Given the description of an element on the screen output the (x, y) to click on. 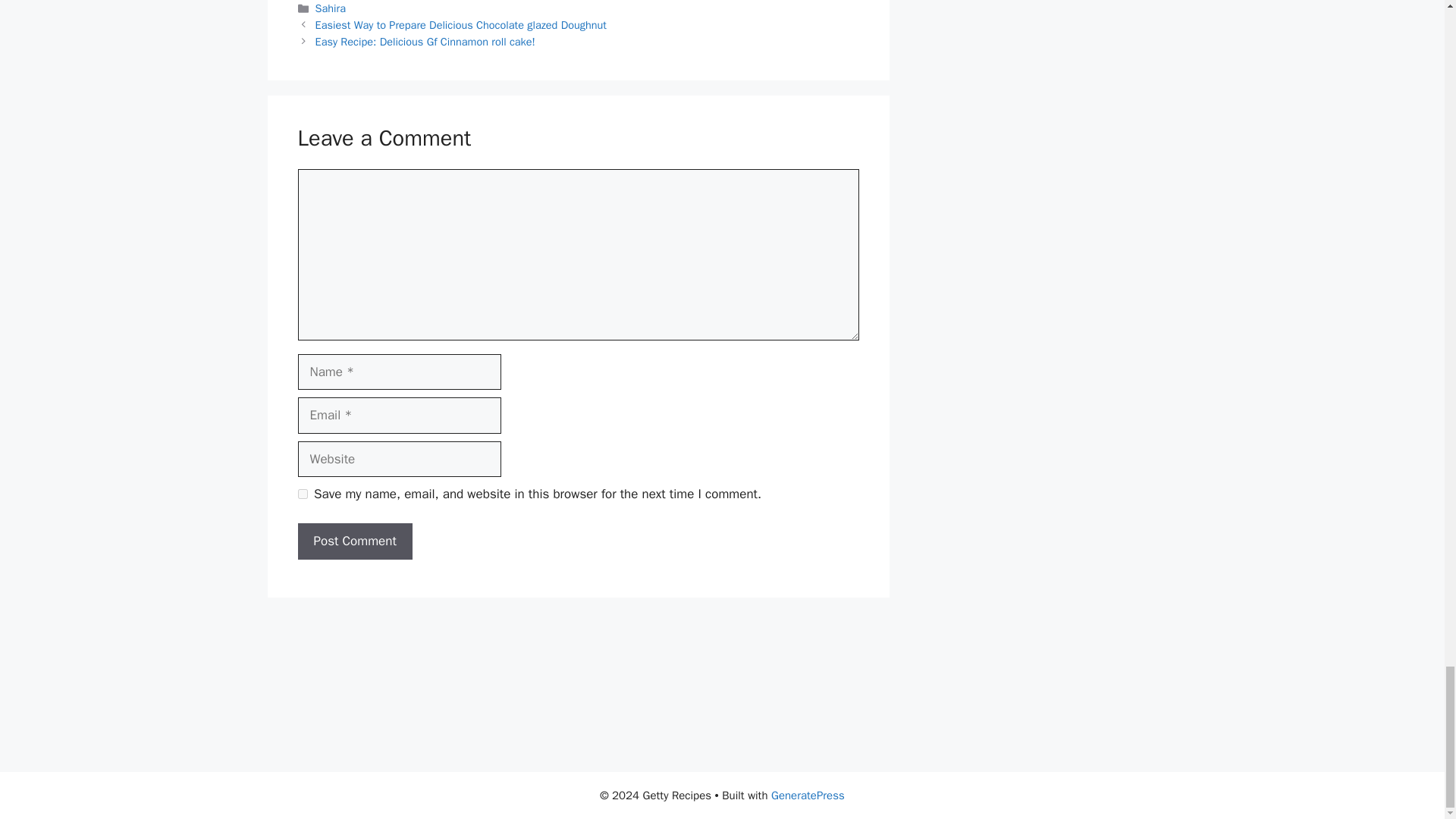
Sahira (330, 8)
yes (302, 493)
Post Comment (354, 541)
Easy Recipe: Delicious Gf Cinnamon roll cake! (425, 41)
Post Comment (354, 541)
Easiest Way to Prepare Delicious Chocolate glazed Doughnut (461, 24)
